Given the description of an element on the screen output the (x, y) to click on. 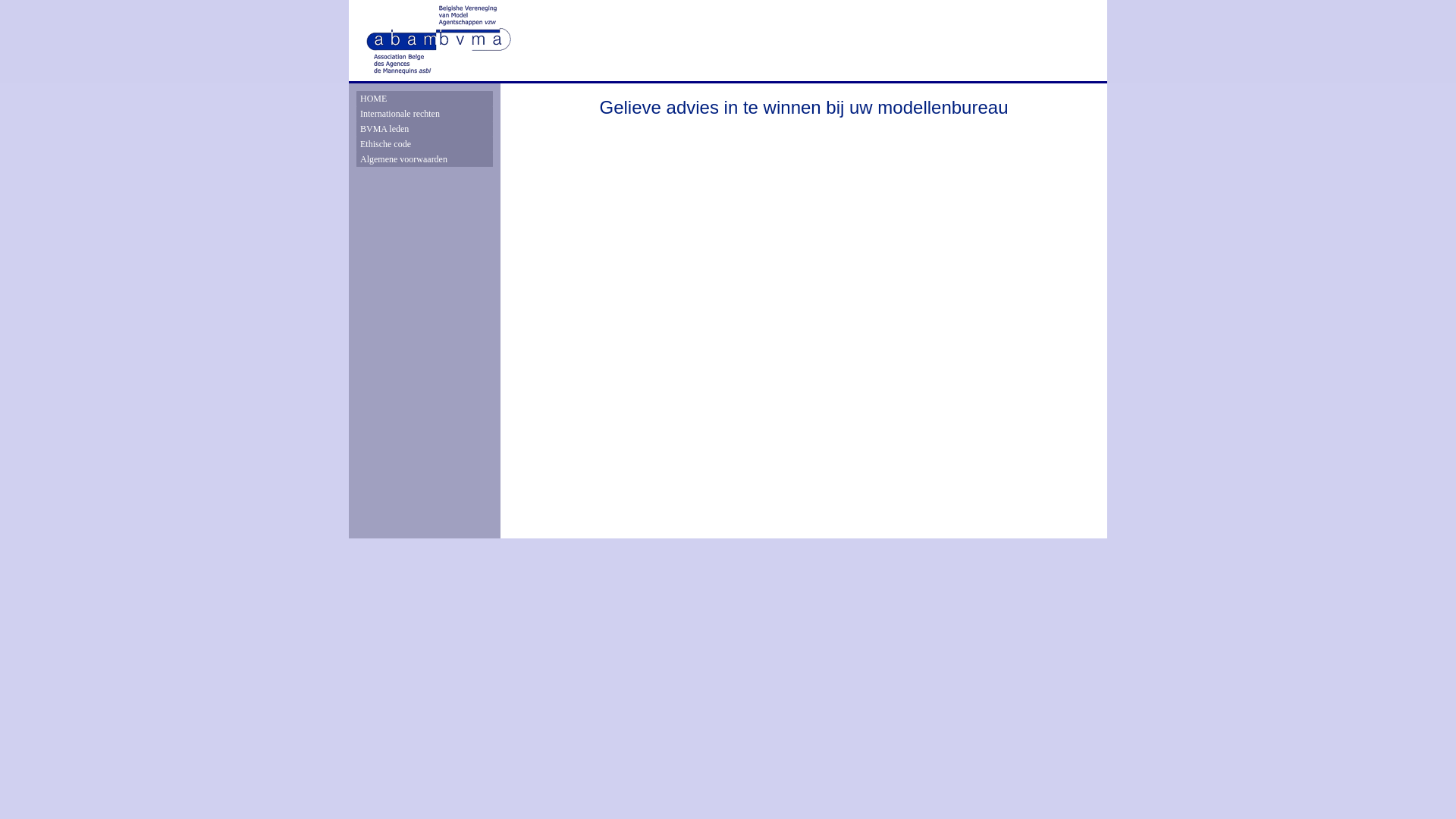
Ethische code Element type: text (424, 143)
Algemene voorwaarden Element type: text (424, 158)
Internationale rechten Element type: text (424, 113)
HOME Element type: text (424, 98)
BVMA leden Element type: text (424, 128)
